Given the description of an element on the screen output the (x, y) to click on. 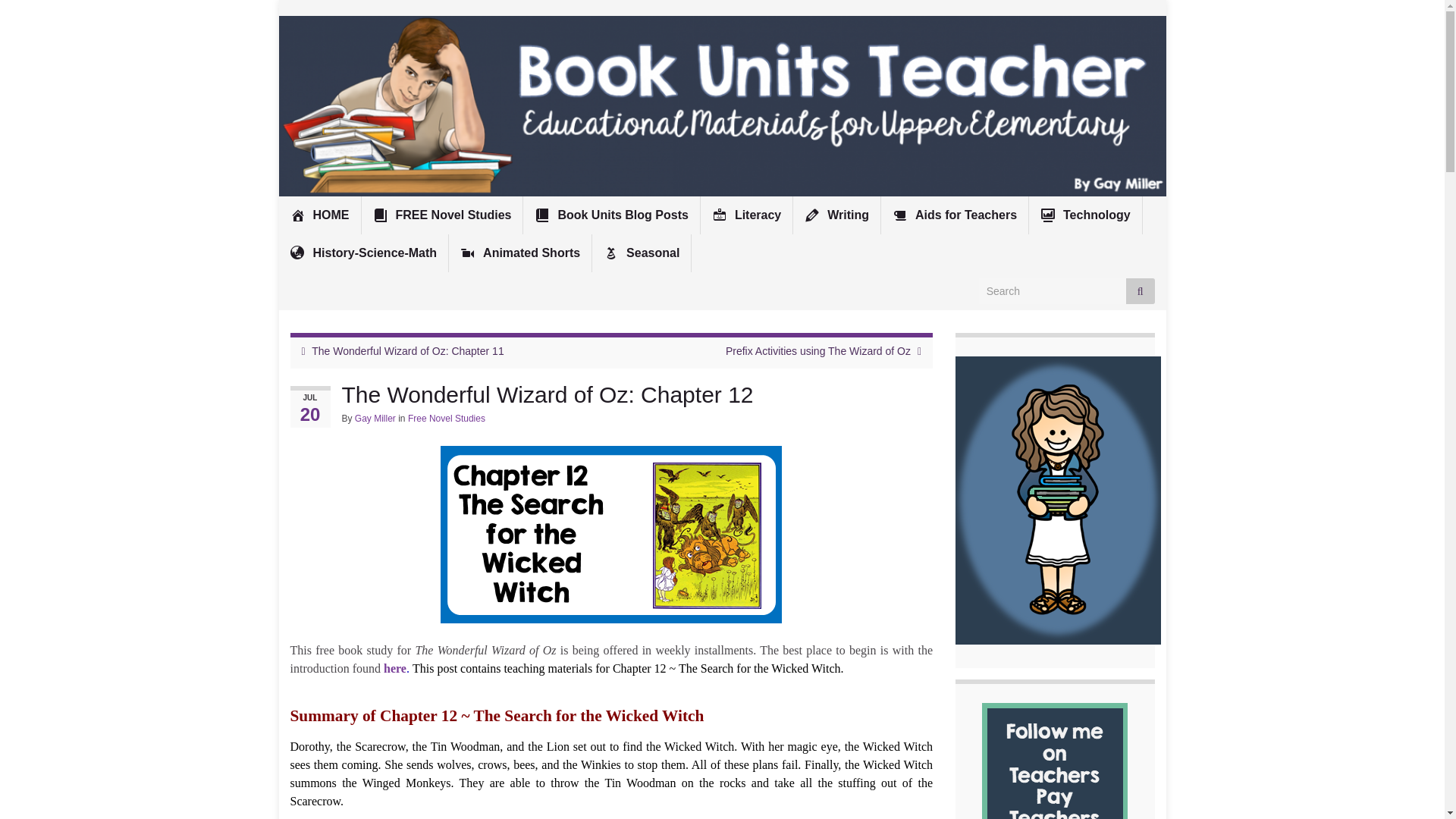
Gay Miller (375, 418)
Aids for Teachers (953, 215)
The Wonderful Wizard of Oz: Chapter 11 (407, 350)
Book Units Blog Posts (610, 215)
here (393, 667)
FREE Novel Studies (441, 215)
Prefix Activities using The Wizard of Oz (818, 350)
History-Science-Math (363, 252)
Animated Shorts (519, 252)
